Given the description of an element on the screen output the (x, y) to click on. 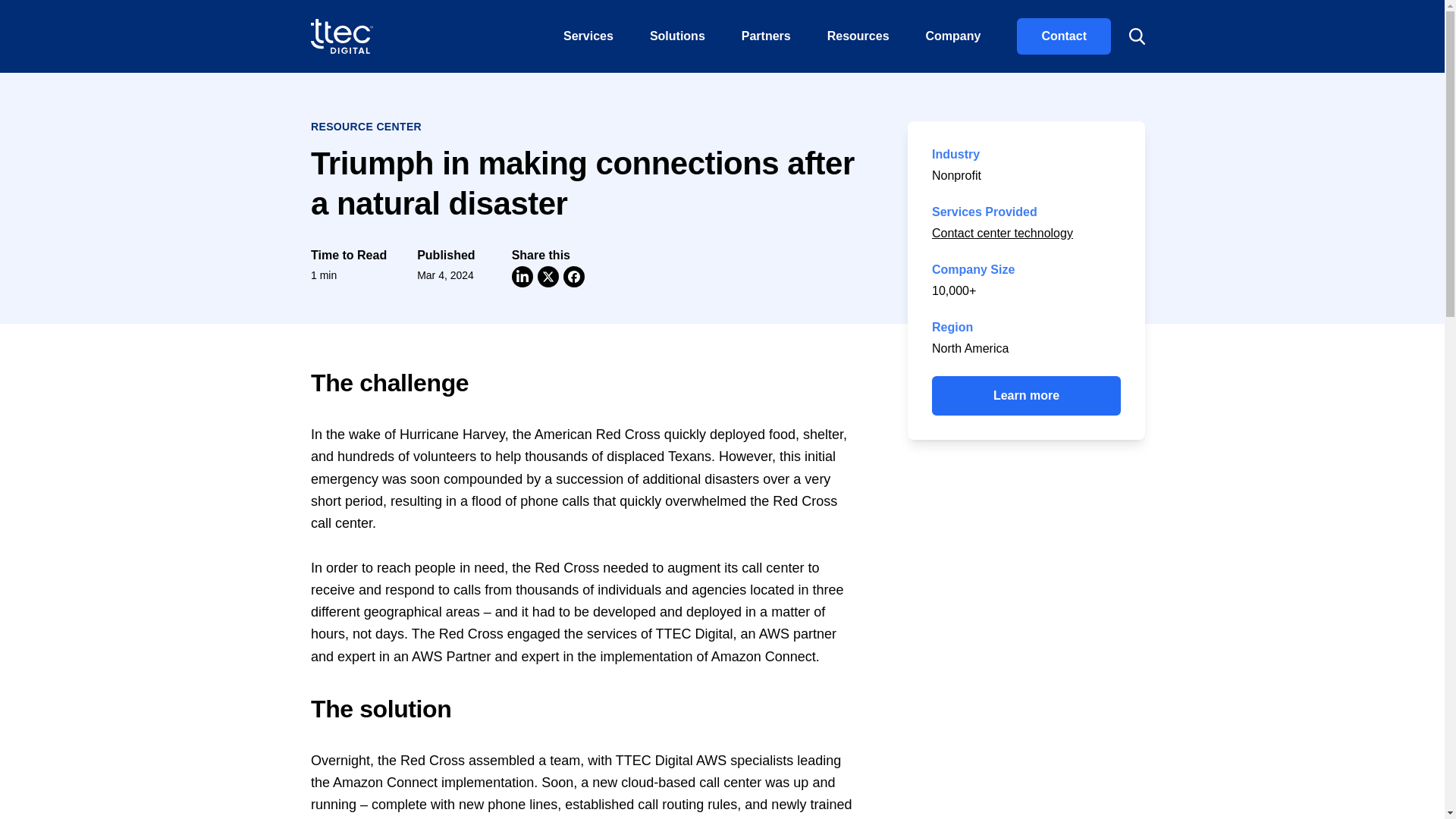
Contact (1063, 36)
Resources (858, 36)
Company (952, 36)
Solutions (677, 36)
Services (587, 36)
Partners (766, 36)
